Given the description of an element on the screen output the (x, y) to click on. 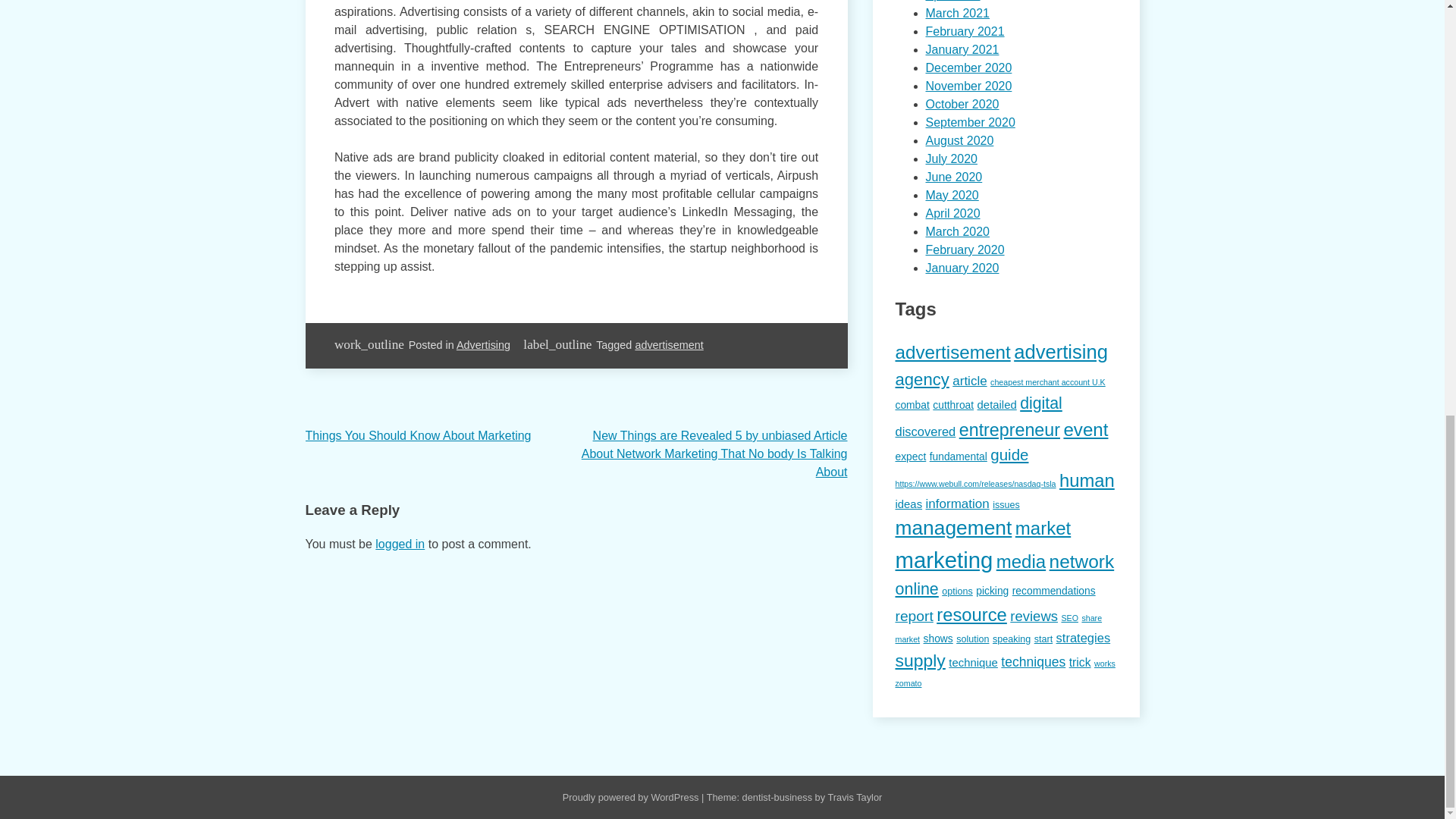
November 2020 (967, 85)
December 2020 (967, 67)
March 2021 (957, 12)
advertisement (668, 345)
February 2021 (964, 31)
Advertising (484, 345)
January 2021 (961, 49)
April 2021 (951, 0)
October 2020 (961, 103)
Things You Should Know About Marketing (417, 435)
logged in (400, 543)
